Given the description of an element on the screen output the (x, y) to click on. 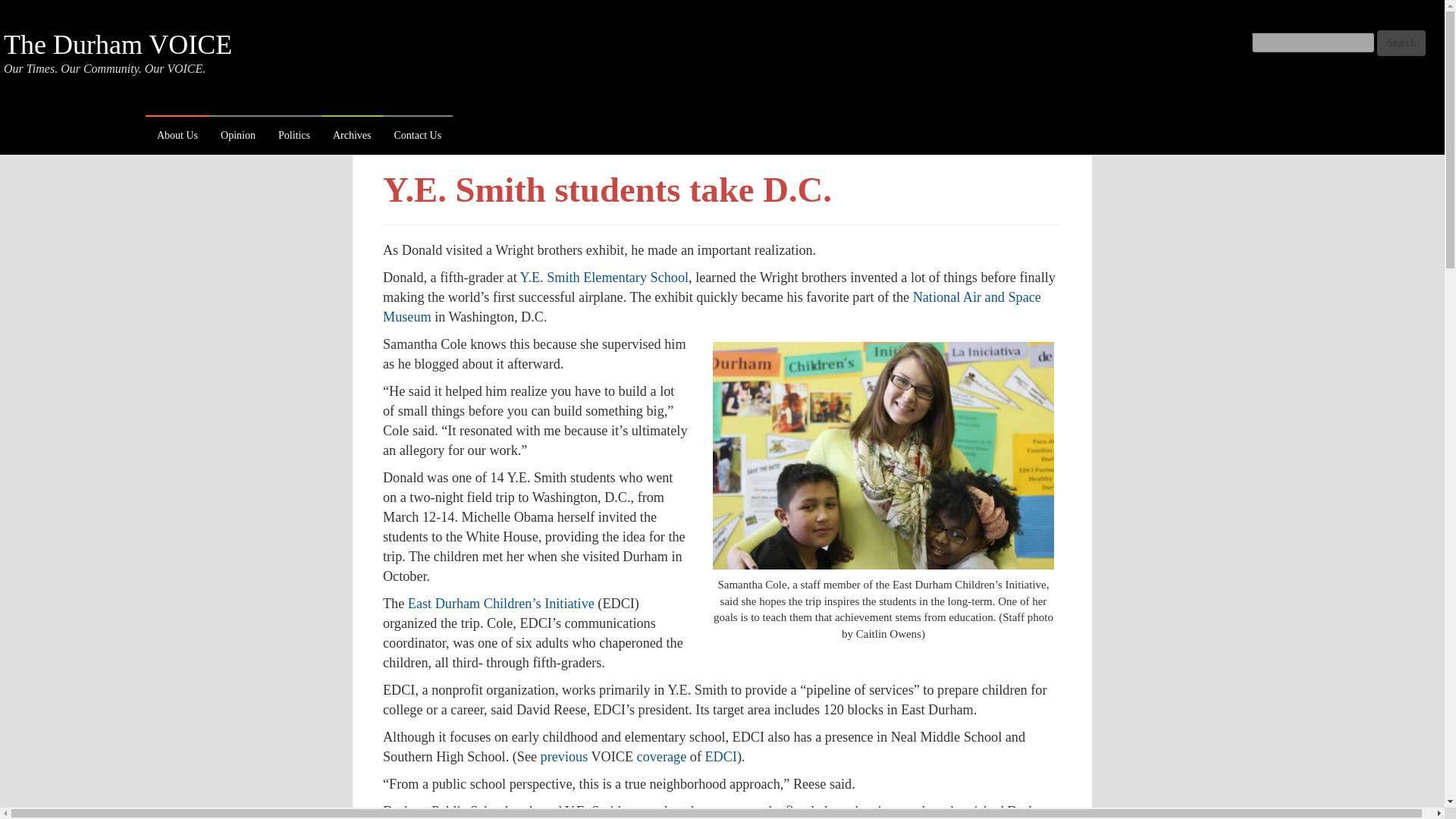
Search (1401, 43)
Search (1401, 43)
Politics (293, 135)
previous (564, 756)
The Durham VOICE (117, 44)
The Durham VOICE (117, 44)
Archives (351, 135)
Archives (351, 135)
Contact Us (417, 135)
About Us (177, 135)
